Given the description of an element on the screen output the (x, y) to click on. 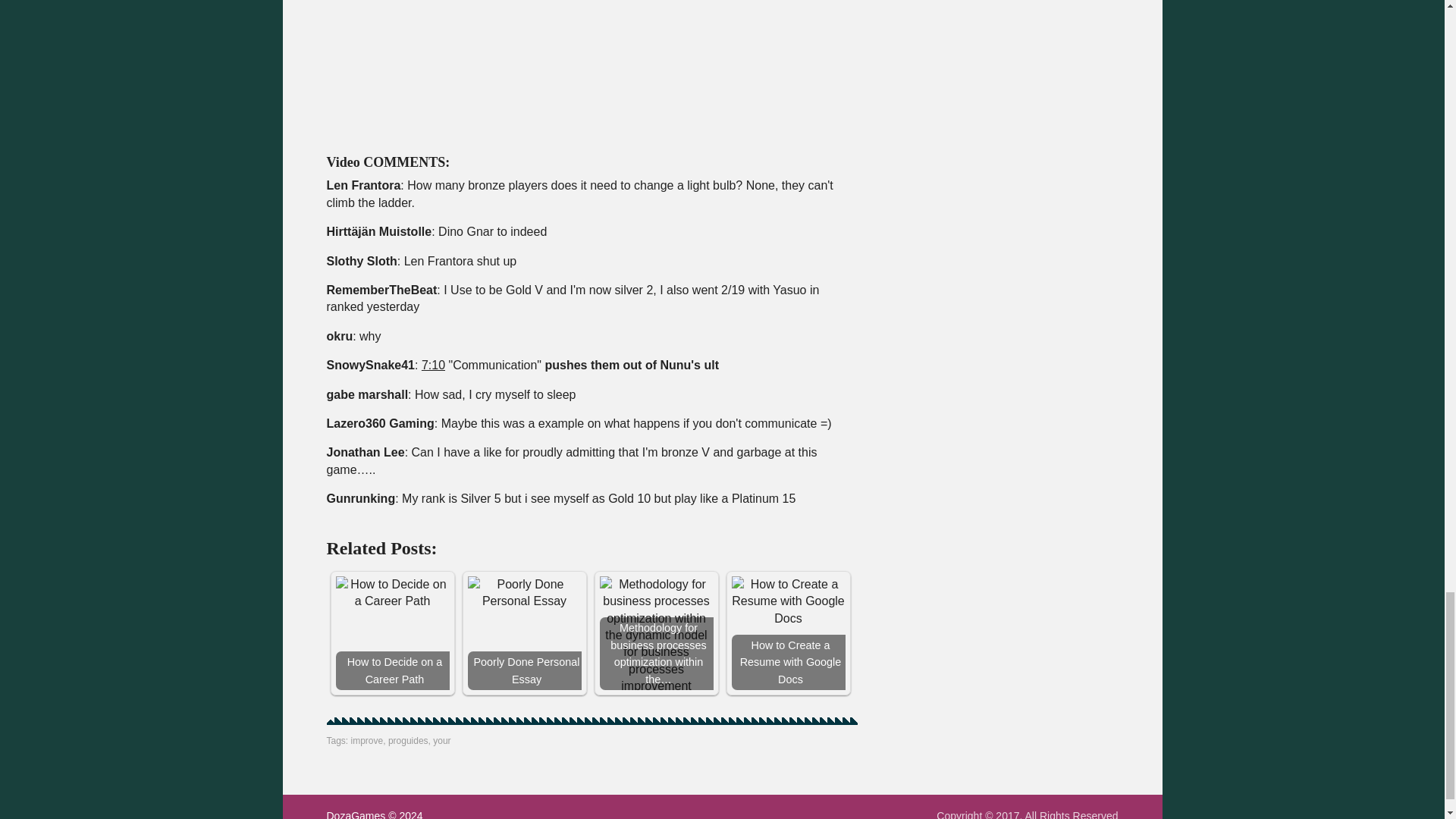
How to Create a Resume with Google Docs (787, 633)
Poorly Done Personal Essay (523, 633)
How to Decide on a Career Path (391, 593)
proguides (408, 740)
7:10 (433, 364)
your (440, 740)
How to Create a Resume with Google Docs (787, 601)
Poorly Done Personal Essay (523, 593)
improve (367, 740)
